Given the description of an element on the screen output the (x, y) to click on. 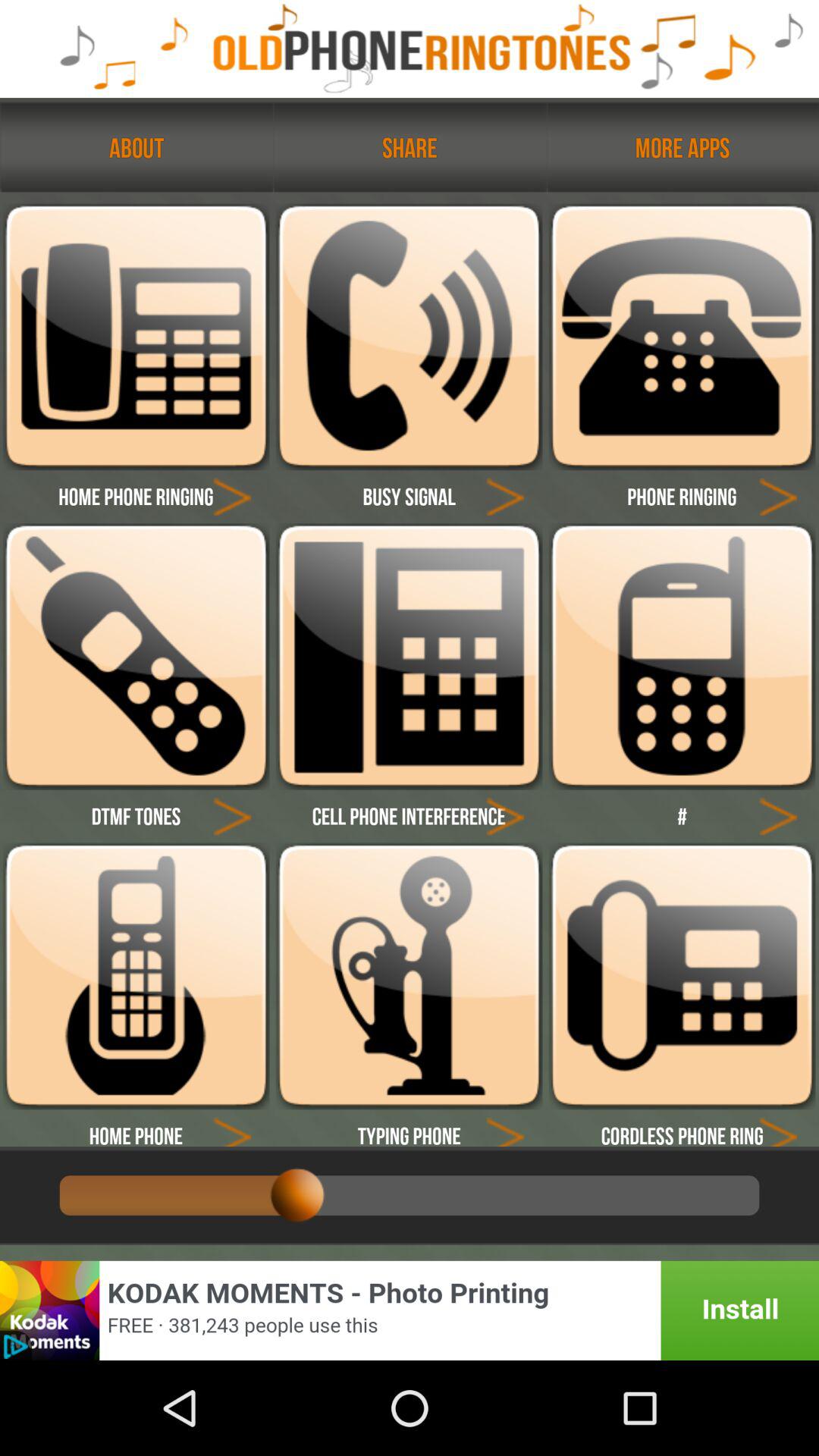
select a ringtone from ringtone list (681, 656)
